Given the description of an element on the screen output the (x, y) to click on. 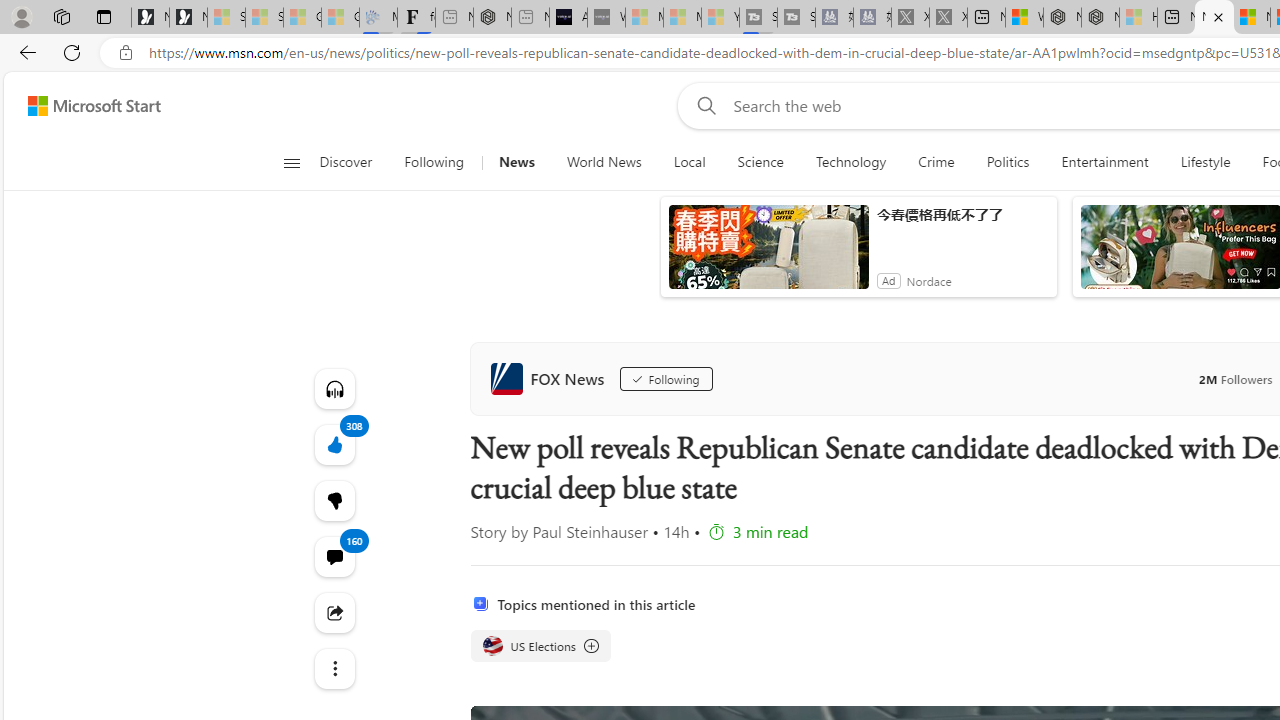
Technology (851, 162)
News (516, 162)
Local (689, 162)
Listen to this article (333, 388)
Streaming Coverage | T3 - Sleeping (757, 17)
Lifestyle (1204, 162)
